Given the description of an element on the screen output the (x, y) to click on. 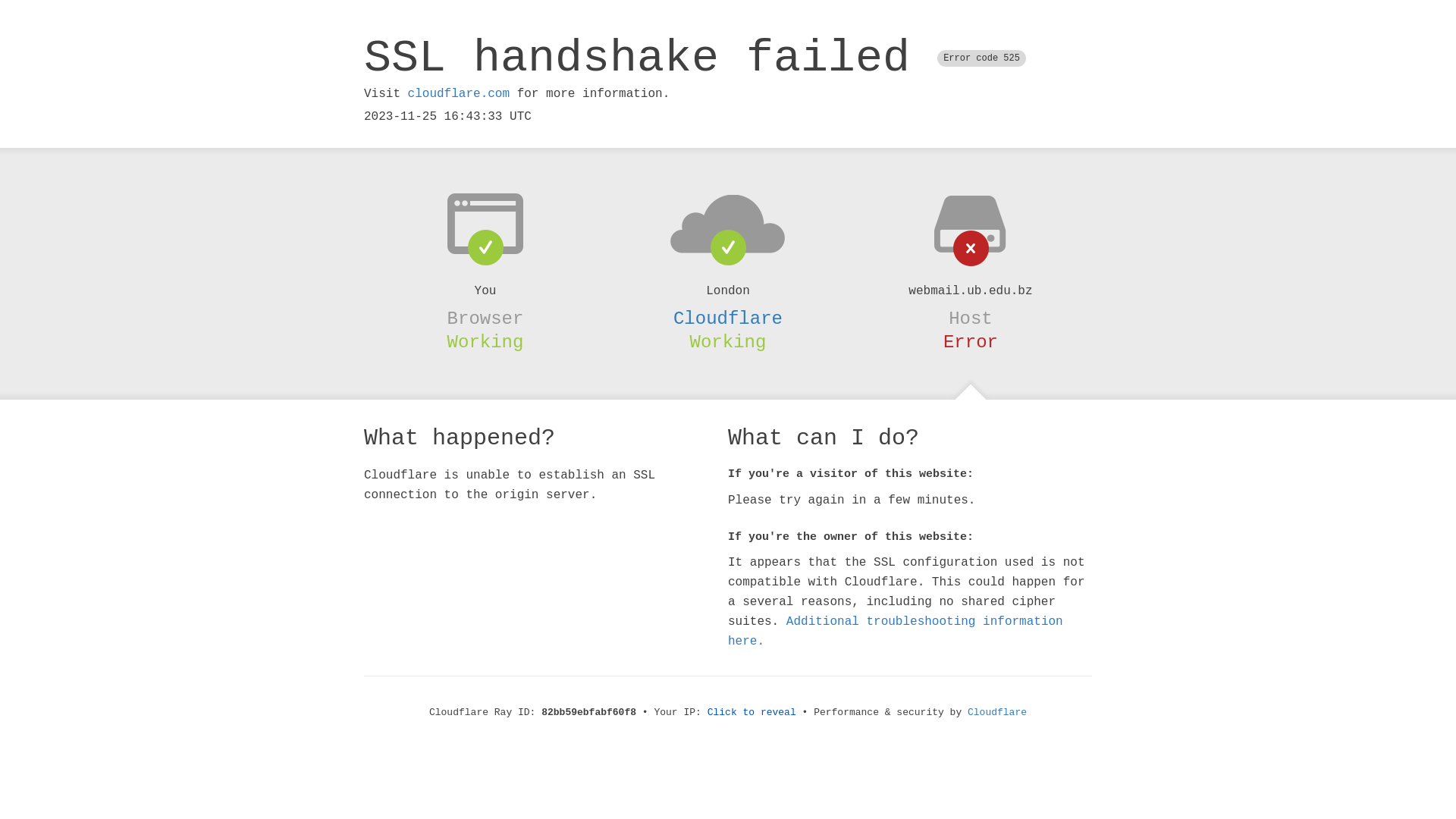
cloudflare.com Element type: text (458, 93)
Cloudflare Element type: text (996, 712)
Additional troubleshooting information here. Element type: text (895, 631)
Cloudflare Element type: text (727, 318)
Click to reveal Element type: text (751, 712)
